Given the description of an element on the screen output the (x, y) to click on. 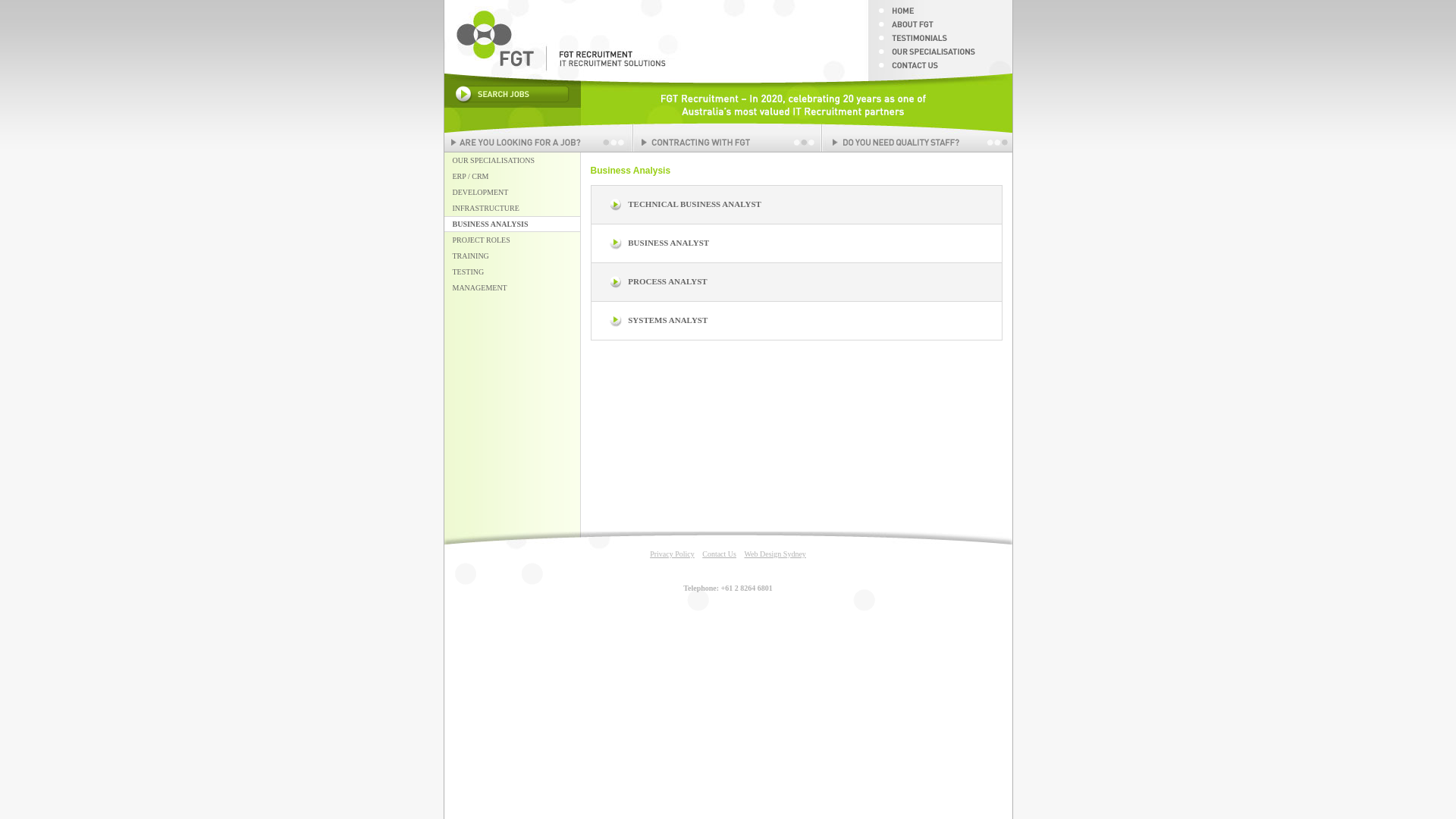
ERP / CRM Element type: text (512, 176)
Privacy Policy Element type: text (671, 553)
PROJECT ROLES Element type: text (512, 239)
CONTACT US Element type: hover (939, 68)
MANAGEMENT Element type: text (512, 287)
TESTING Element type: text (512, 271)
DEVELOPMENT Element type: text (512, 192)
TESTIMONIALS Element type: hover (939, 41)
HOME Element type: hover (939, 13)
INFRASTRUCTURE Element type: text (512, 208)
Web Design Sydney Element type: text (774, 553)
OUR SPECIALISATIONS Element type: text (512, 160)
OUR SPECIALISATIONS Element type: hover (939, 54)
ABOUT FGT Element type: hover (939, 27)
BUSINESS ANALYSIS Element type: text (512, 224)
TRAINING Element type: text (512, 255)
Contact Us Element type: text (719, 553)
